Given the description of an element on the screen output the (x, y) to click on. 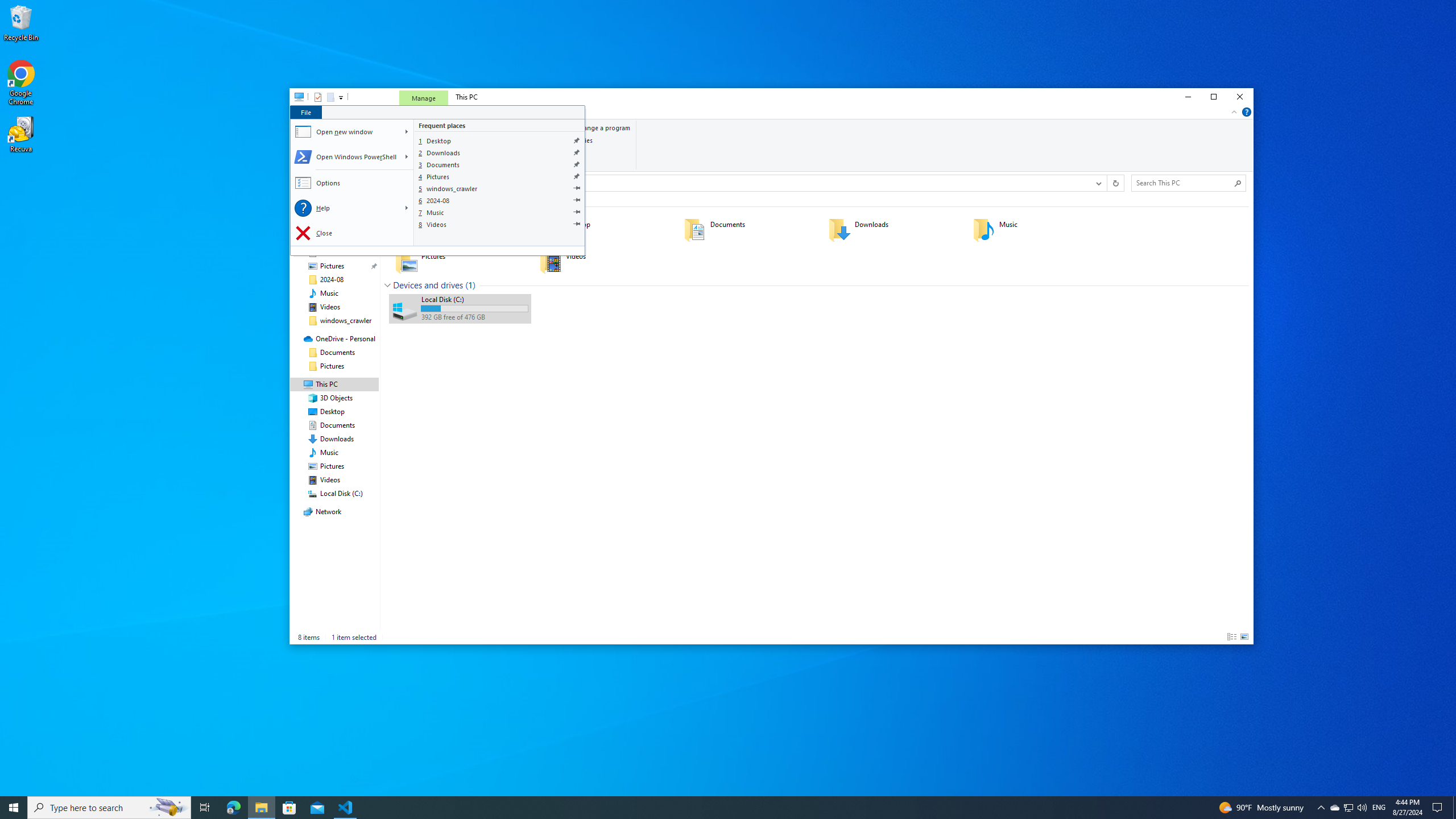
Options (352, 182)
W (406, 131)
File tab (305, 111)
Desktop (499, 140)
L (406, 207)
Music (499, 212)
